Given the description of an element on the screen output the (x, y) to click on. 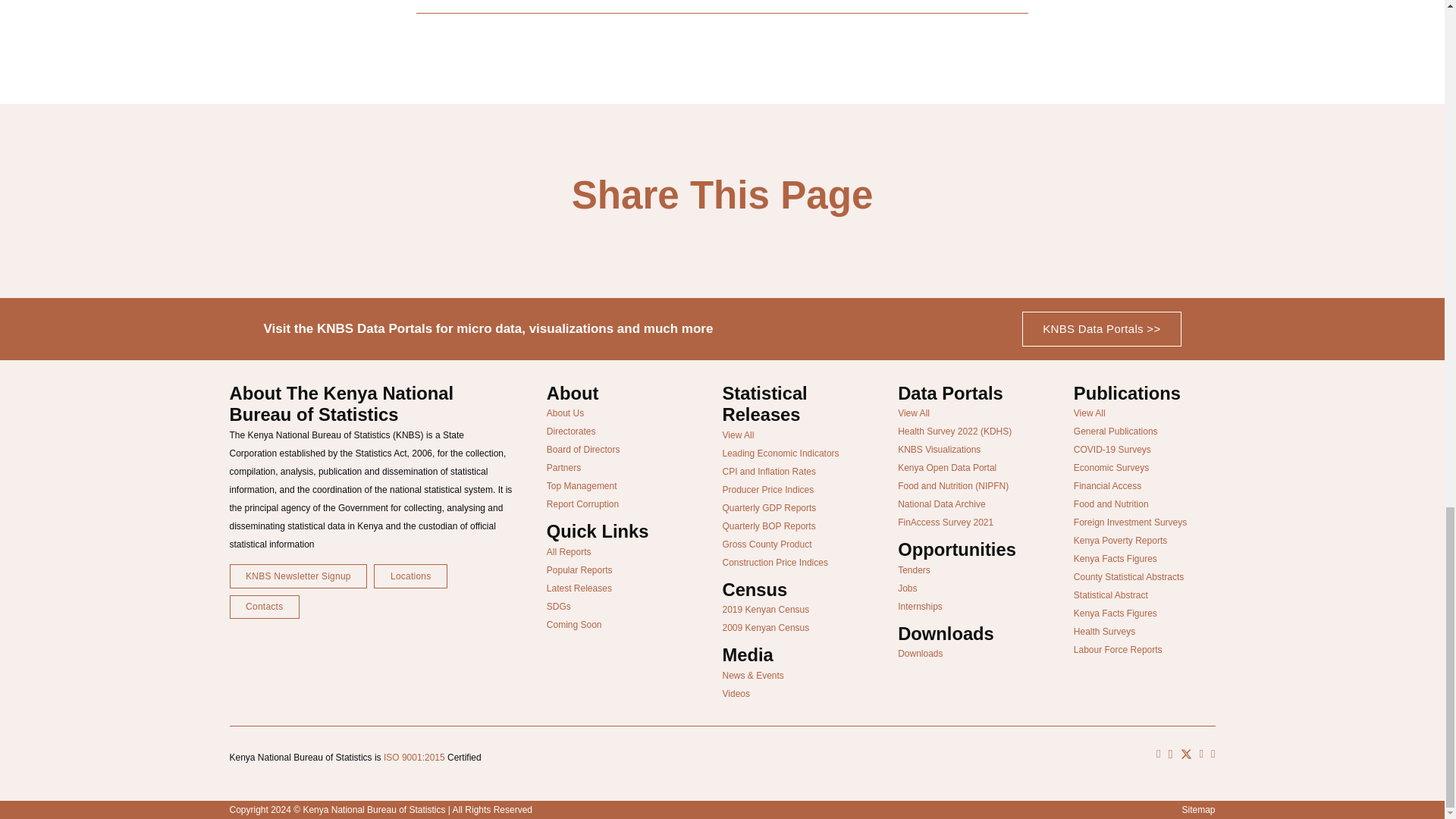
KNBS Locations (410, 576)
Portals (1101, 329)
Contacts (263, 607)
KNBS Newsletter (297, 576)
